Given the description of an element on the screen output the (x, y) to click on. 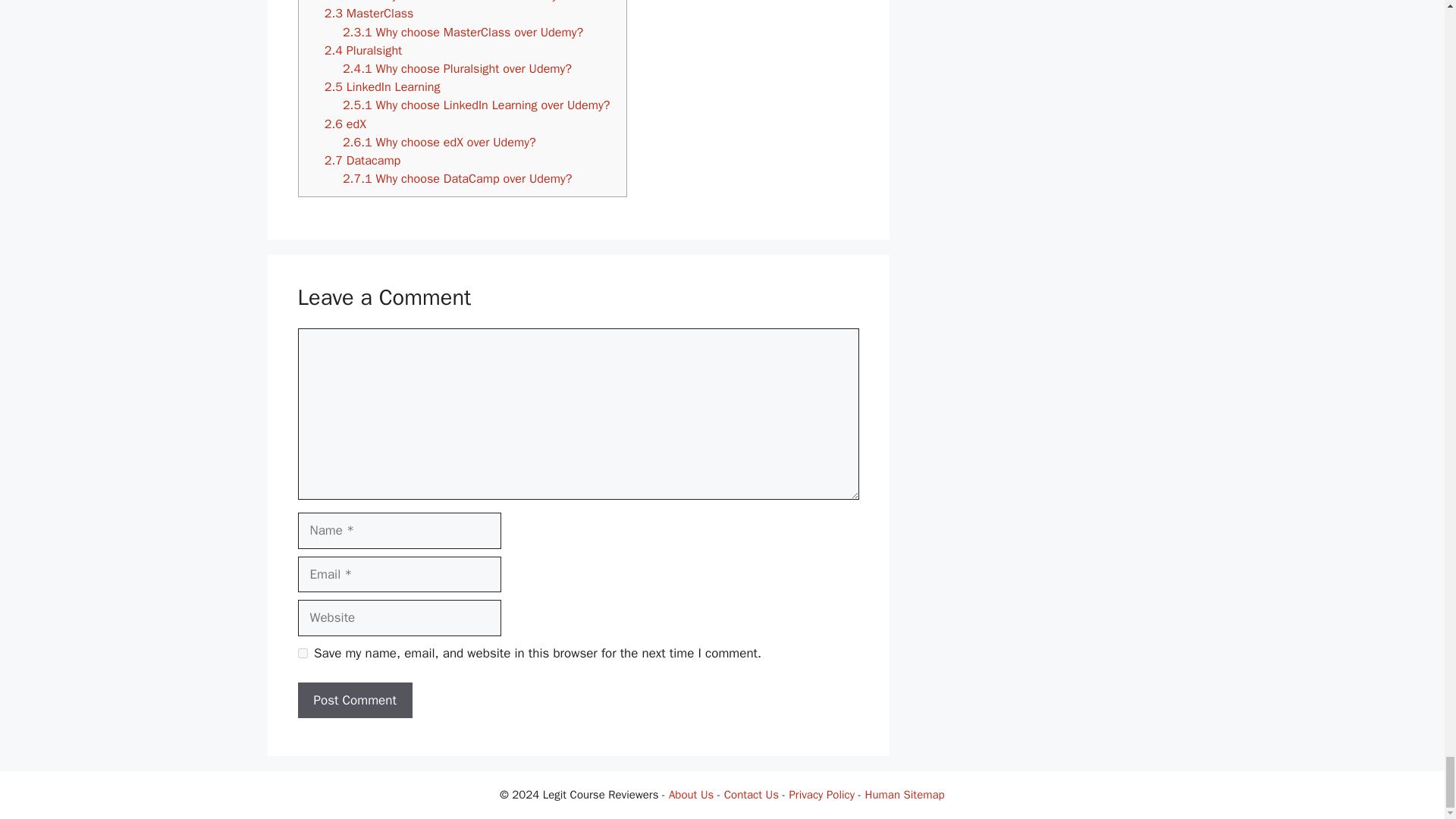
2.5 LinkedIn Learning (382, 86)
2.6 edX (345, 123)
2.3.1 Why choose MasterClass over Udemy? (462, 32)
2.5.1 Why choose LinkedIn Learning over Udemy? (476, 105)
2.3 MasterClass   (372, 12)
2.4.1 Why choose Pluralsight over Udemy? (457, 68)
2.4 Pluralsight  (365, 50)
2.7.1 Why choose DataCamp over Udemy? (457, 178)
Post Comment (354, 700)
2.7 Datacamp  (364, 160)
